Given the description of an element on the screen output the (x, y) to click on. 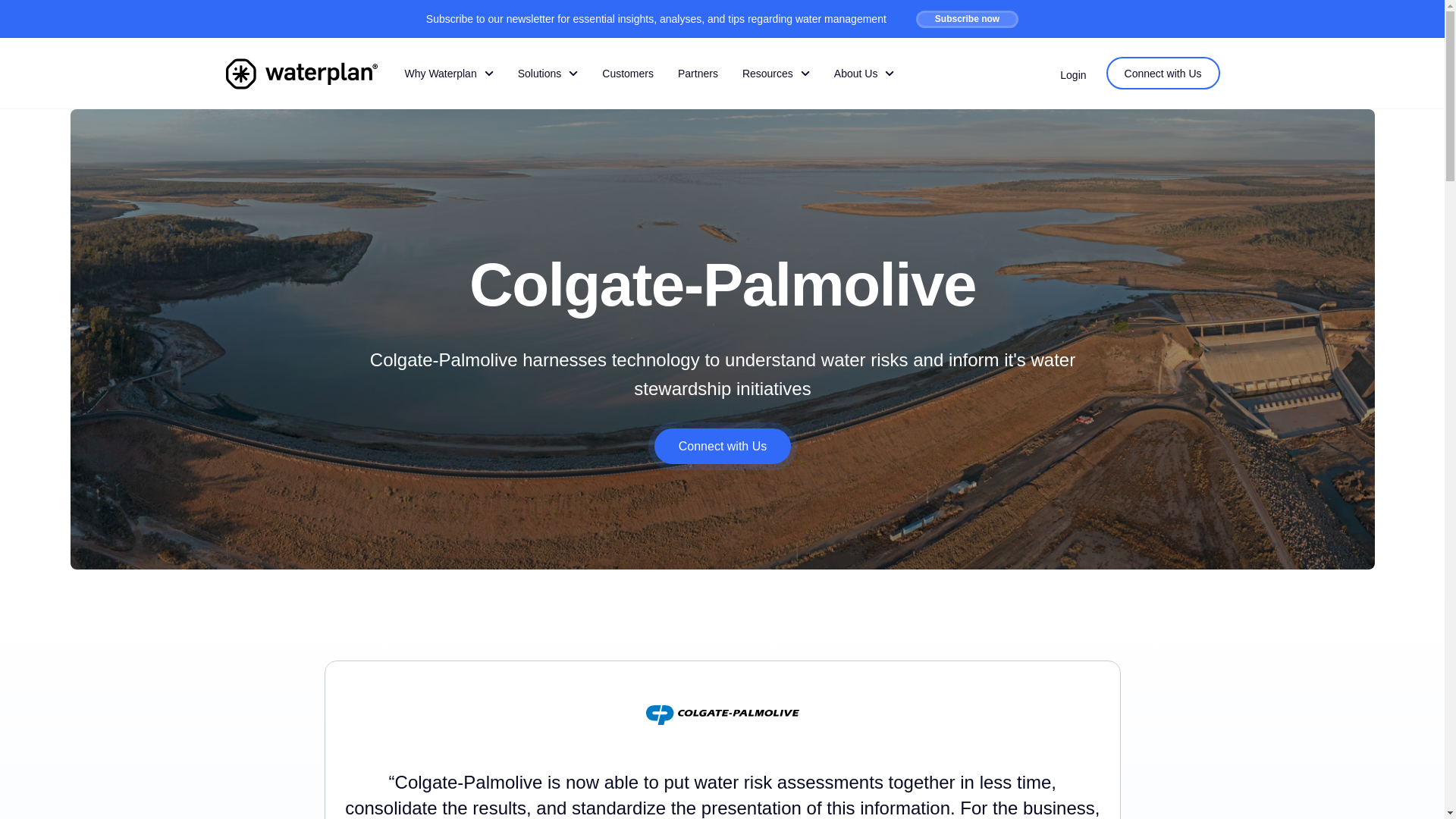
Connect with Us (721, 446)
Why Waterplan (449, 73)
Login (1072, 74)
Subscribe now (966, 18)
Connect with Us (1163, 72)
Customers (627, 73)
Resources (776, 73)
Solutions (548, 73)
Partners (697, 73)
About Us (864, 73)
